Given the description of an element on the screen output the (x, y) to click on. 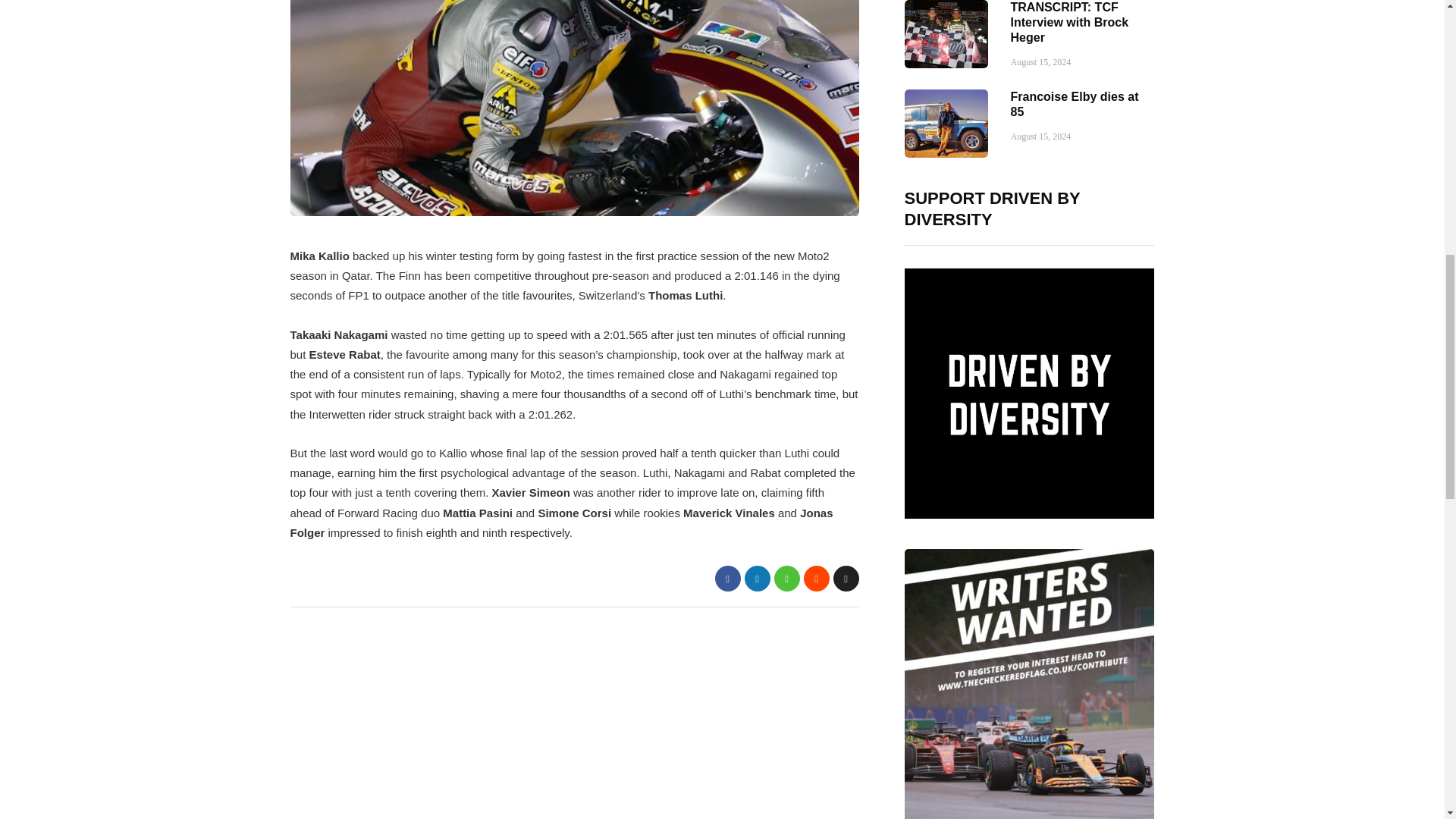
Share with Facebook (726, 578)
Share by Email (845, 578)
Support Driven by Diversity (1029, 393)
Share to WhatsApp (786, 578)
Share on Reddit (816, 578)
Share with LinkedIn (757, 578)
